Given the description of an element on the screen output the (x, y) to click on. 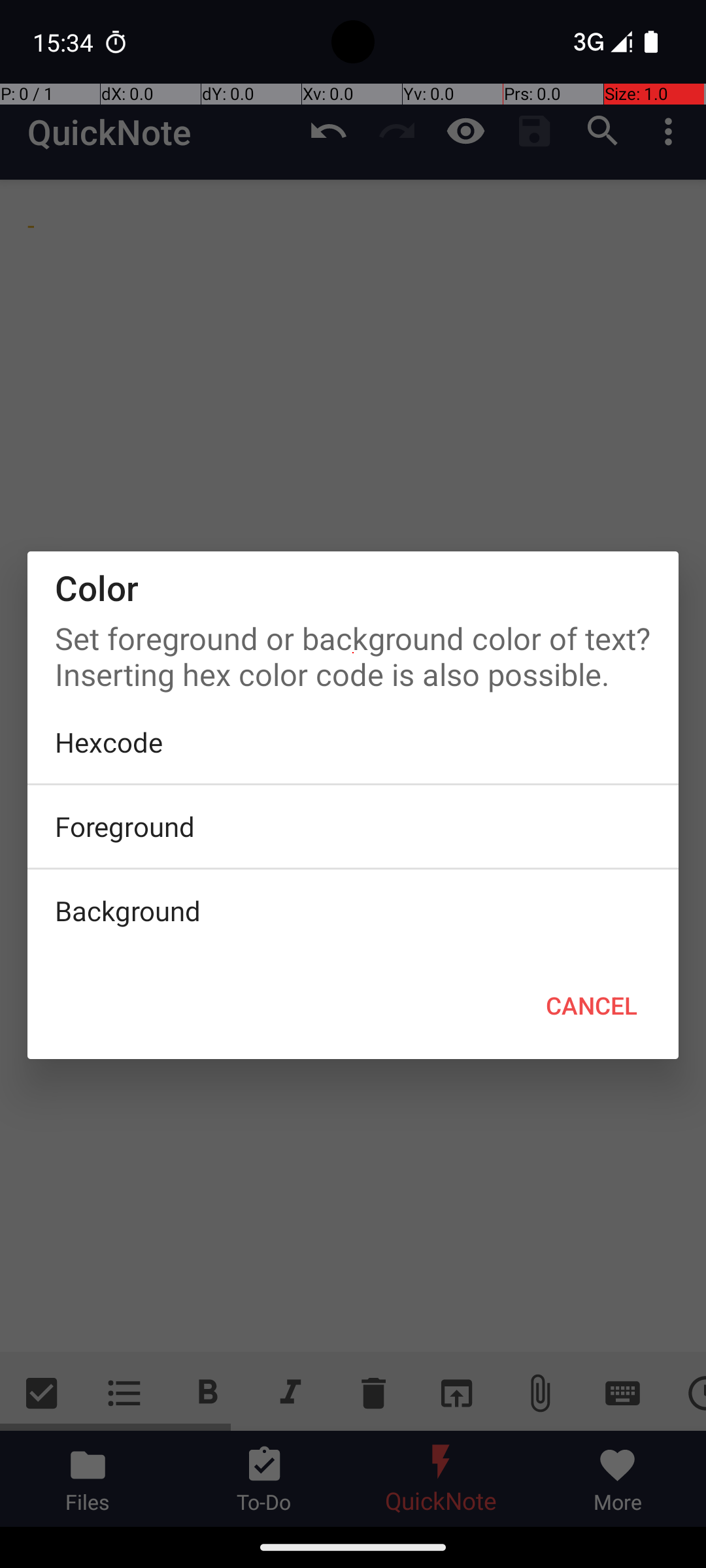
Set foreground or background color of text? Inserting hex color code is also possible. Element type: android.widget.TextView (352, 652)
Hexcode Element type: android.widget.TextView (352, 742)
Foreground Element type: android.widget.TextView (352, 826)
Background Element type: android.widget.TextView (352, 910)
